Given the description of an element on the screen output the (x, y) to click on. 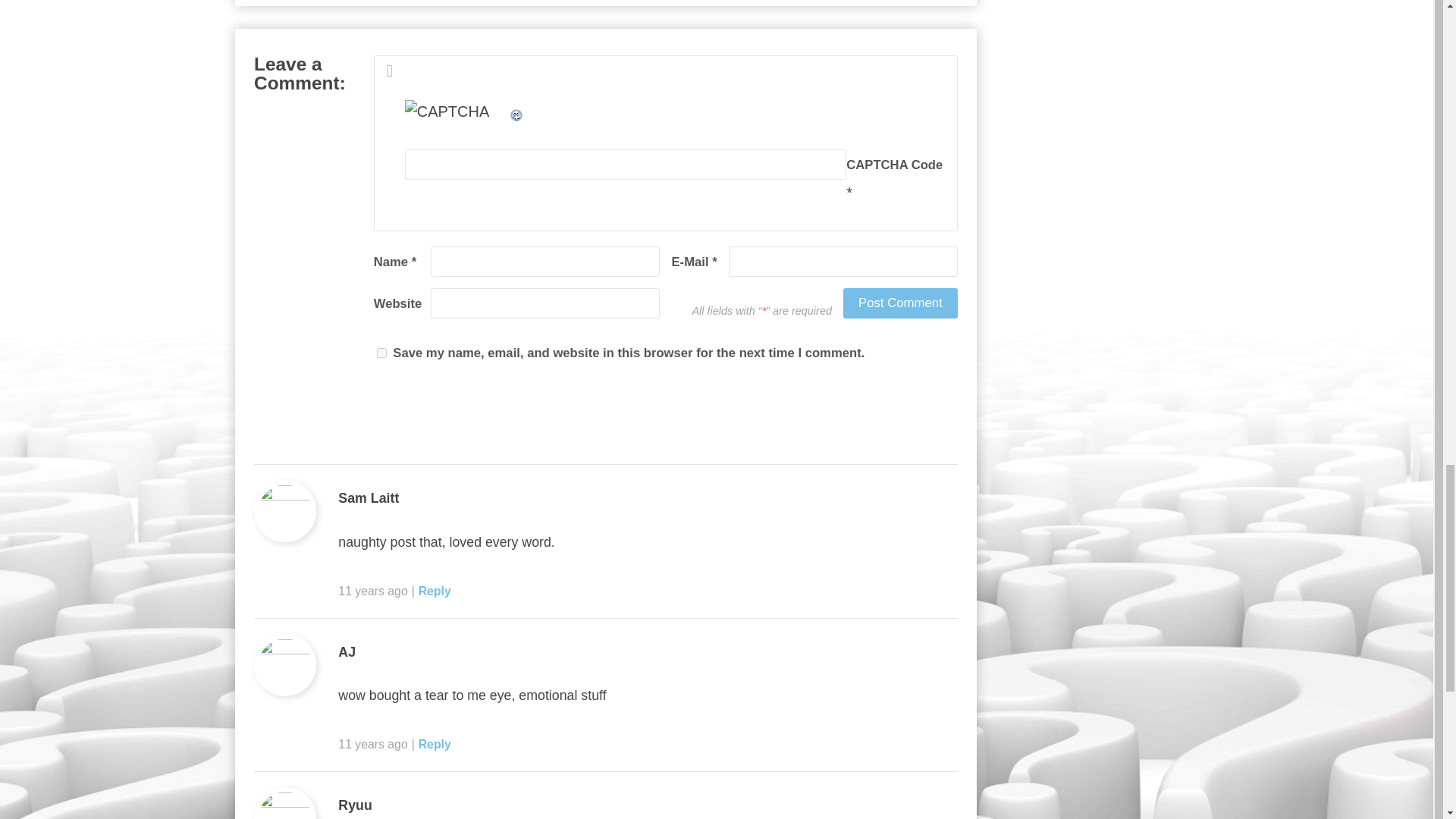
Refresh (516, 111)
Post Comment (900, 303)
Reply (435, 744)
Reply (435, 590)
CAPTCHA (456, 116)
yes (382, 352)
Post Comment (900, 303)
